Given the description of an element on the screen output the (x, y) to click on. 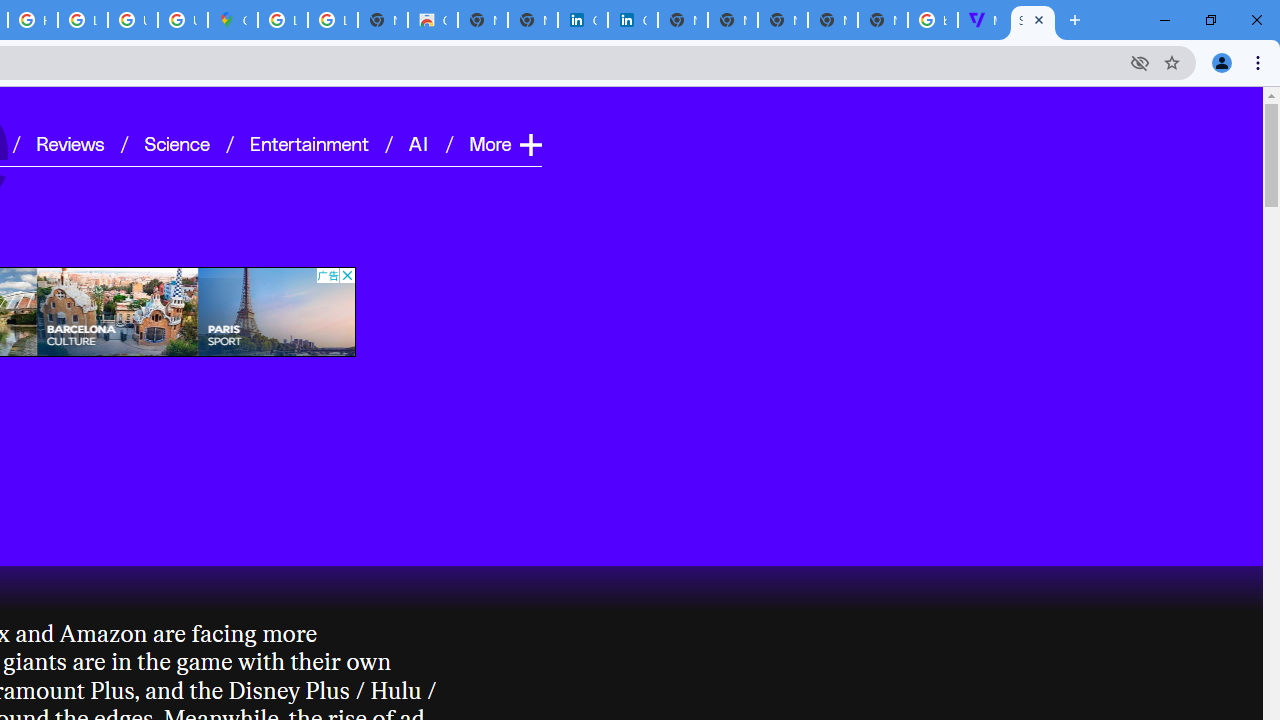
Google Maps (232, 20)
AI (419, 142)
Streaming - The Verge (1032, 20)
Entertainment (309, 142)
Expand (529, 144)
Reviews (69, 142)
More Expand (504, 142)
AutomationID: cbb (346, 274)
Chrome Web Store (433, 20)
